Given the description of an element on the screen output the (x, y) to click on. 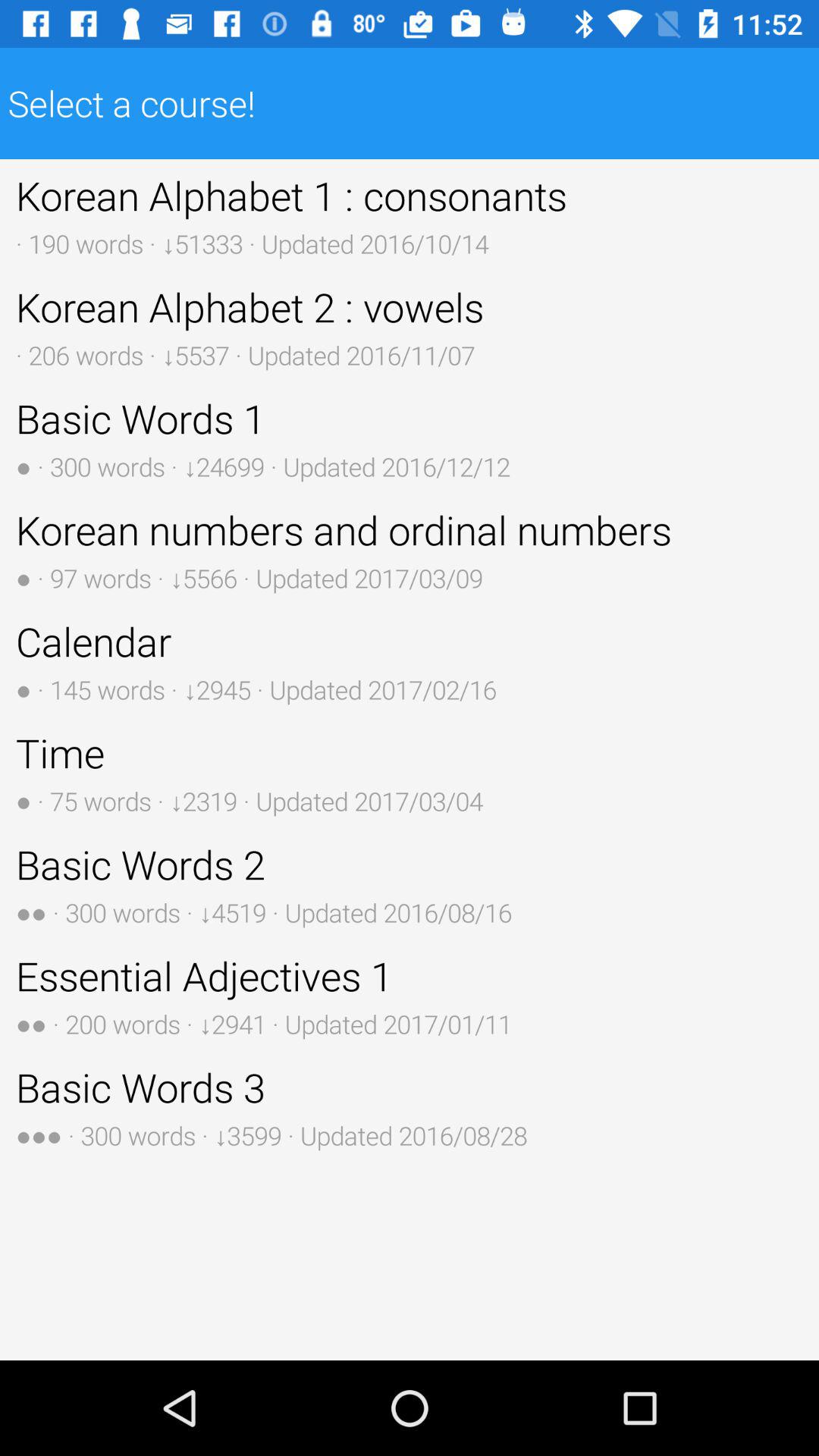
tap time 75 words item (409, 772)
